Given the description of an element on the screen output the (x, y) to click on. 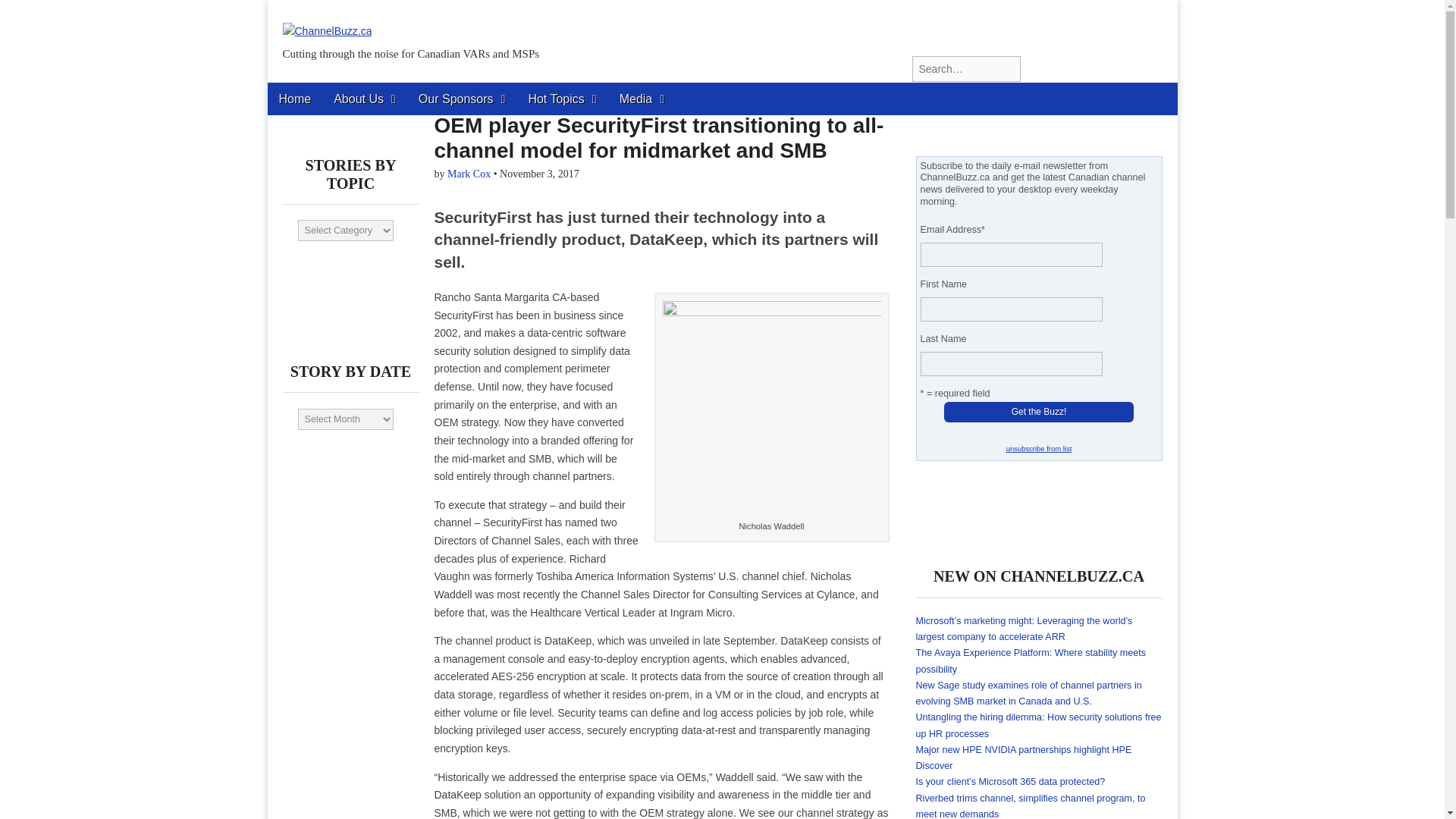
Home (293, 98)
Media (641, 98)
ChannelBuzz.ca (400, 88)
Get the Buzz! (1038, 411)
About Us (364, 98)
ChannelBuzz.ca (400, 88)
Hot Topics (561, 98)
Our Sponsors (461, 98)
Posts by Mark Cox (468, 173)
Skip to content (306, 92)
ChannelBuzz.ca (326, 20)
Skip to content (306, 92)
